Given the description of an element on the screen output the (x, y) to click on. 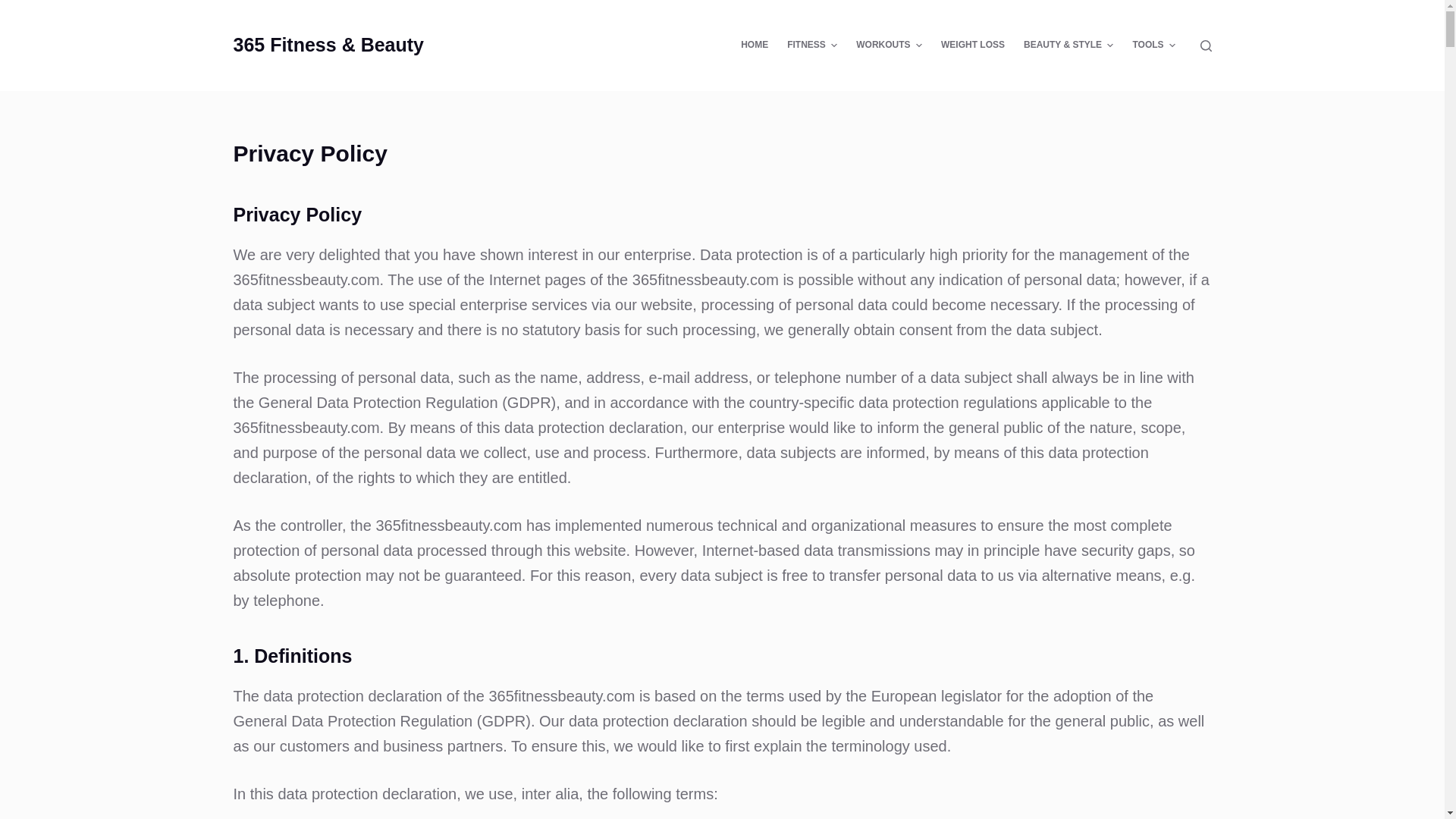
365 Fitness & Beauty Element type: text (328, 44)
TOOLS Element type: text (1154, 45)
BEAUTY & STYLE Element type: text (1068, 45)
WORKOUTS Element type: text (889, 45)
Skip to content Element type: text (15, 7)
HOME Element type: text (754, 45)
FITNESS Element type: text (812, 45)
WEIGHT LOSS Element type: text (972, 45)
